Given the description of an element on the screen output the (x, y) to click on. 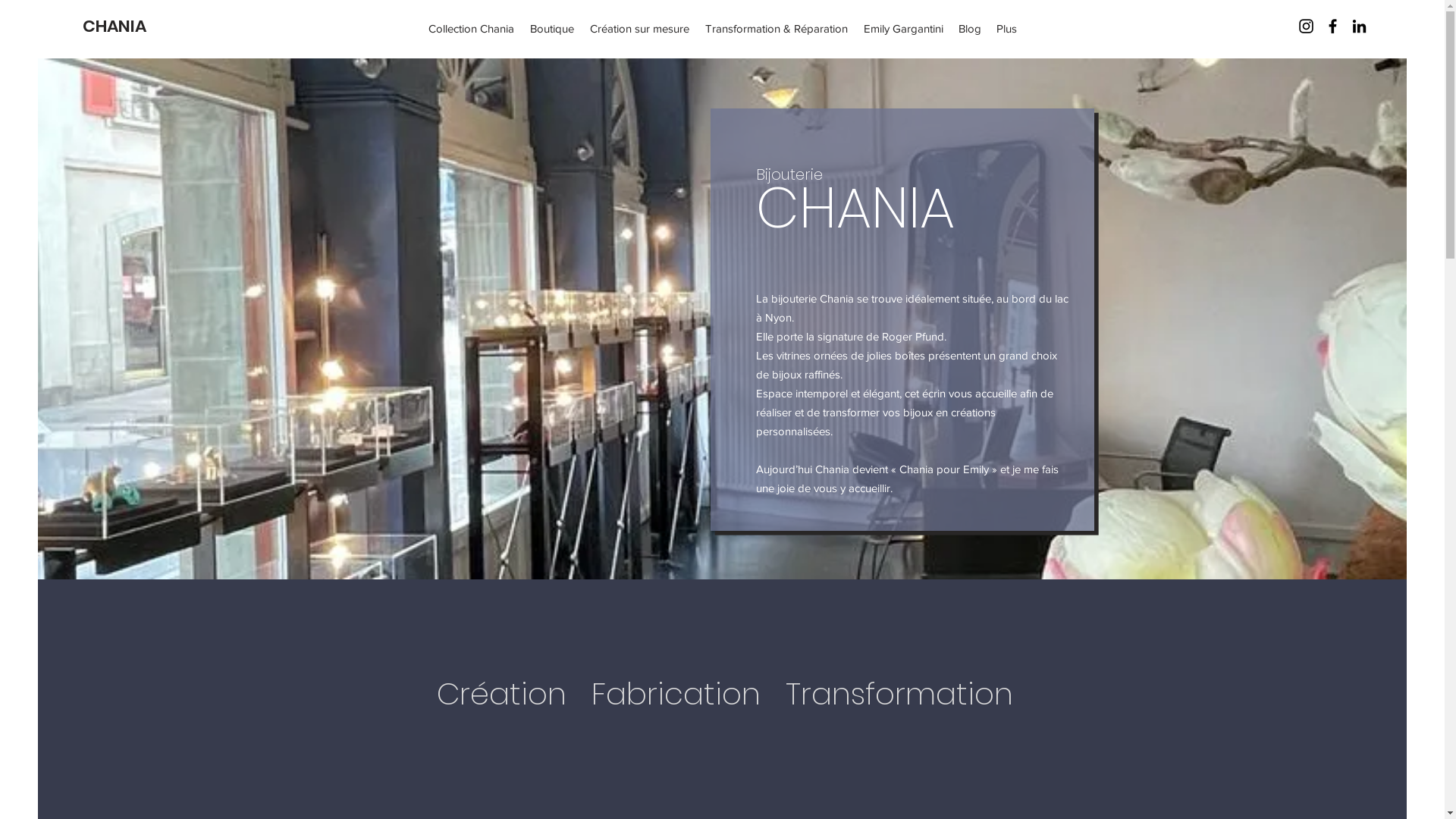
Boutique Element type: text (552, 28)
Emily Gargantini Element type: text (903, 28)
Blog Element type: text (969, 28)
CHANIA Element type: text (114, 25)
Collection Chania Element type: text (471, 28)
